Given the description of an element on the screen output the (x, y) to click on. 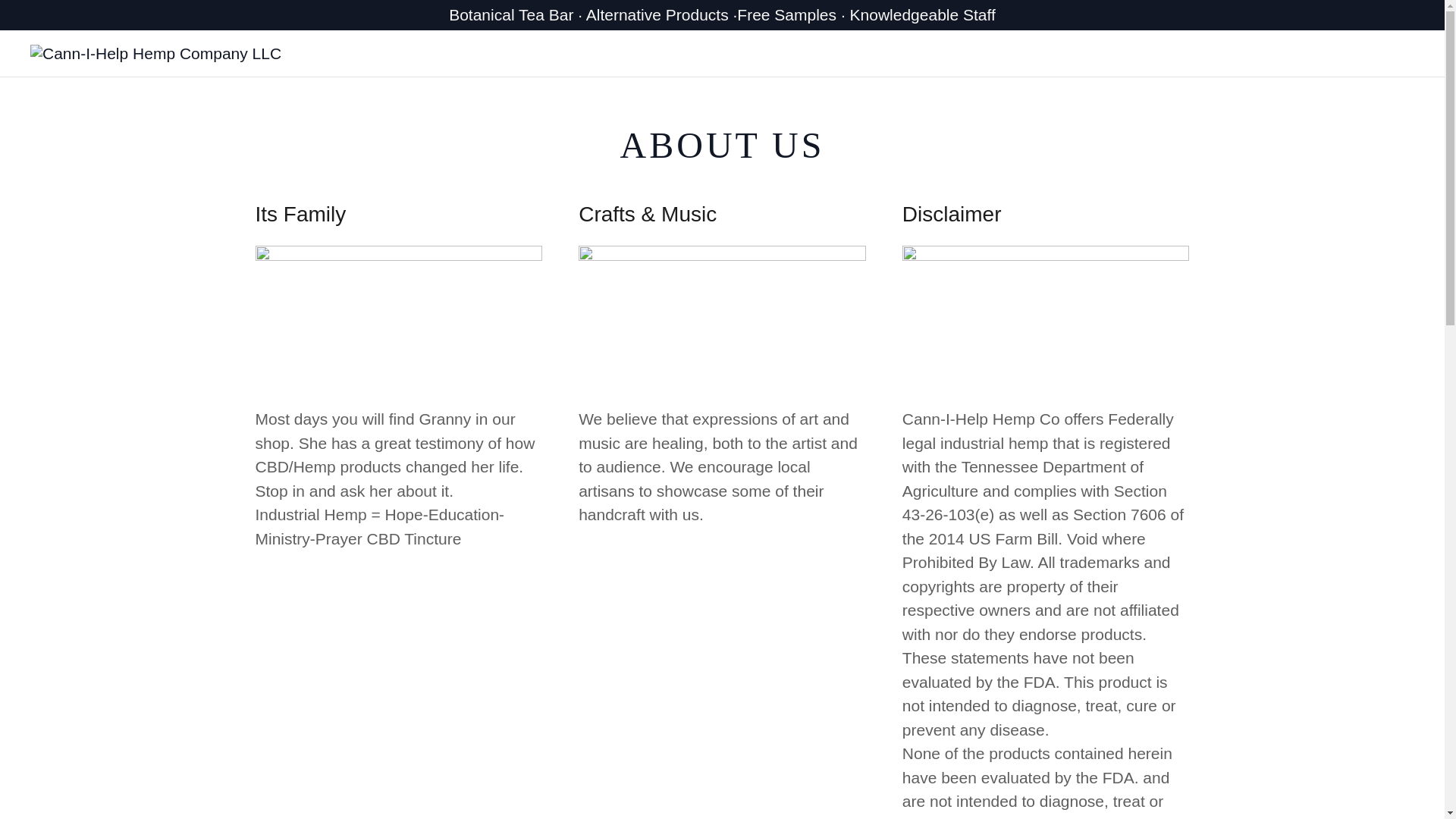
Cann-I-Help Hemp Company LLC (155, 51)
